Given the description of an element on the screen output the (x, y) to click on. 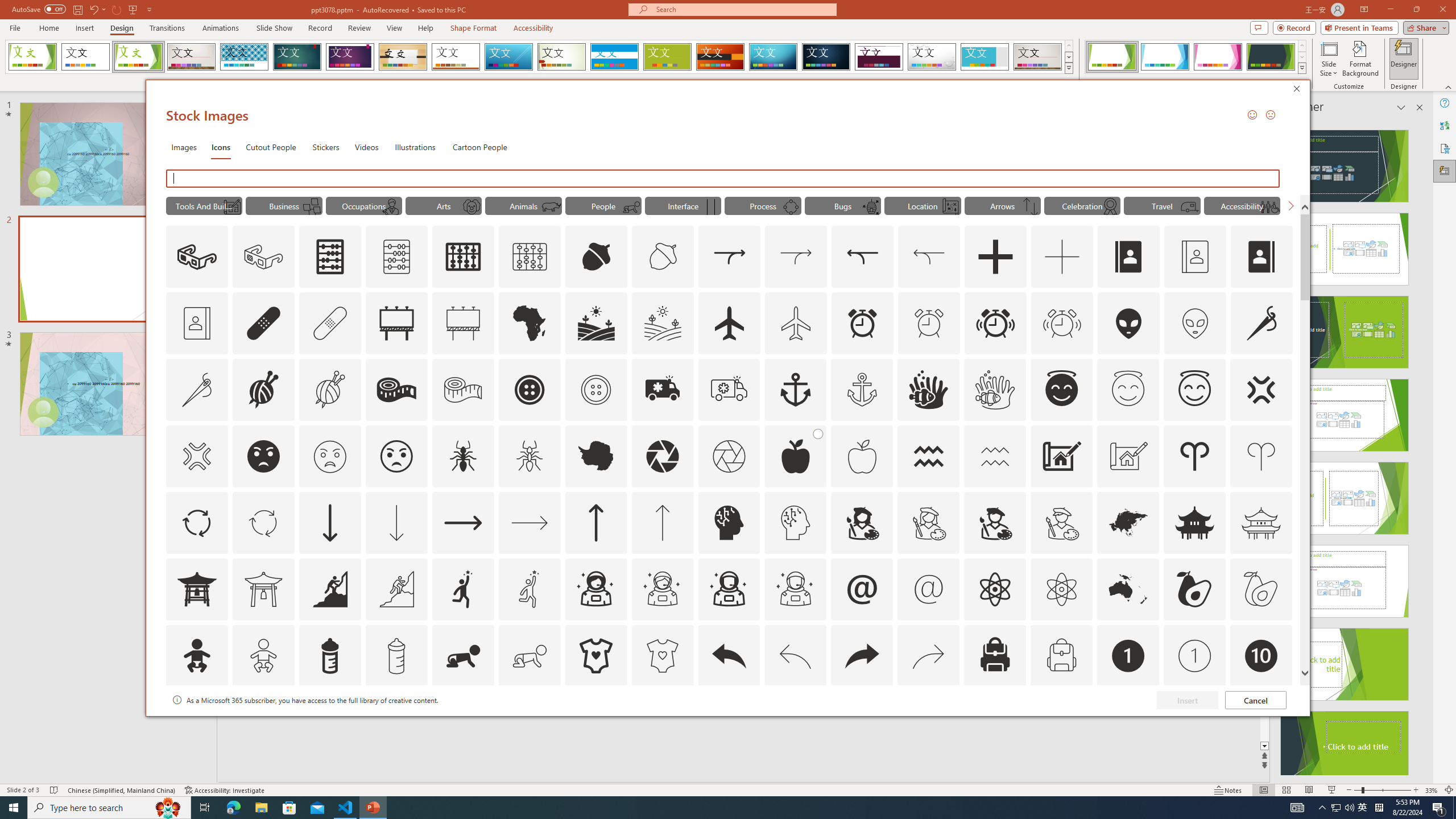
Slice (508, 56)
